Given the description of an element on the screen output the (x, y) to click on. 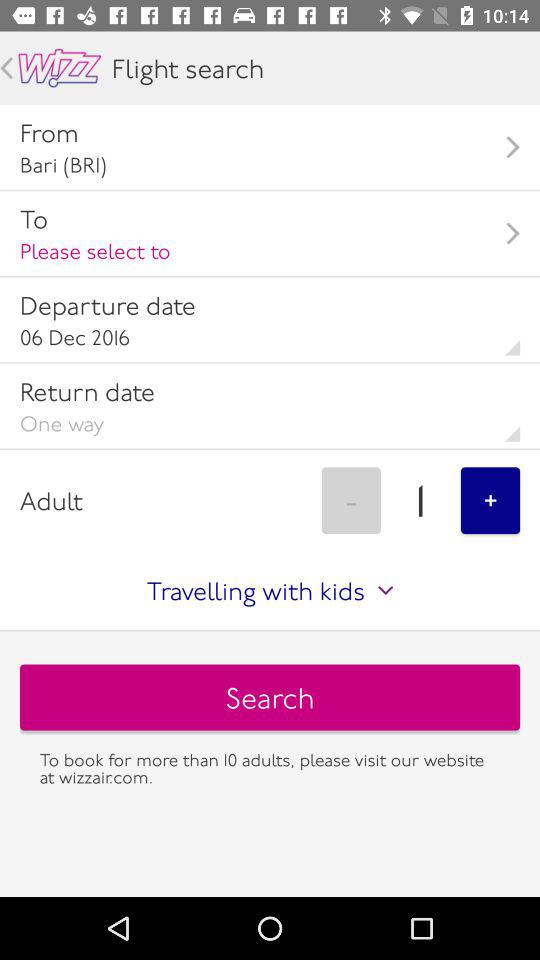
tap - item (351, 500)
